Given the description of an element on the screen output the (x, y) to click on. 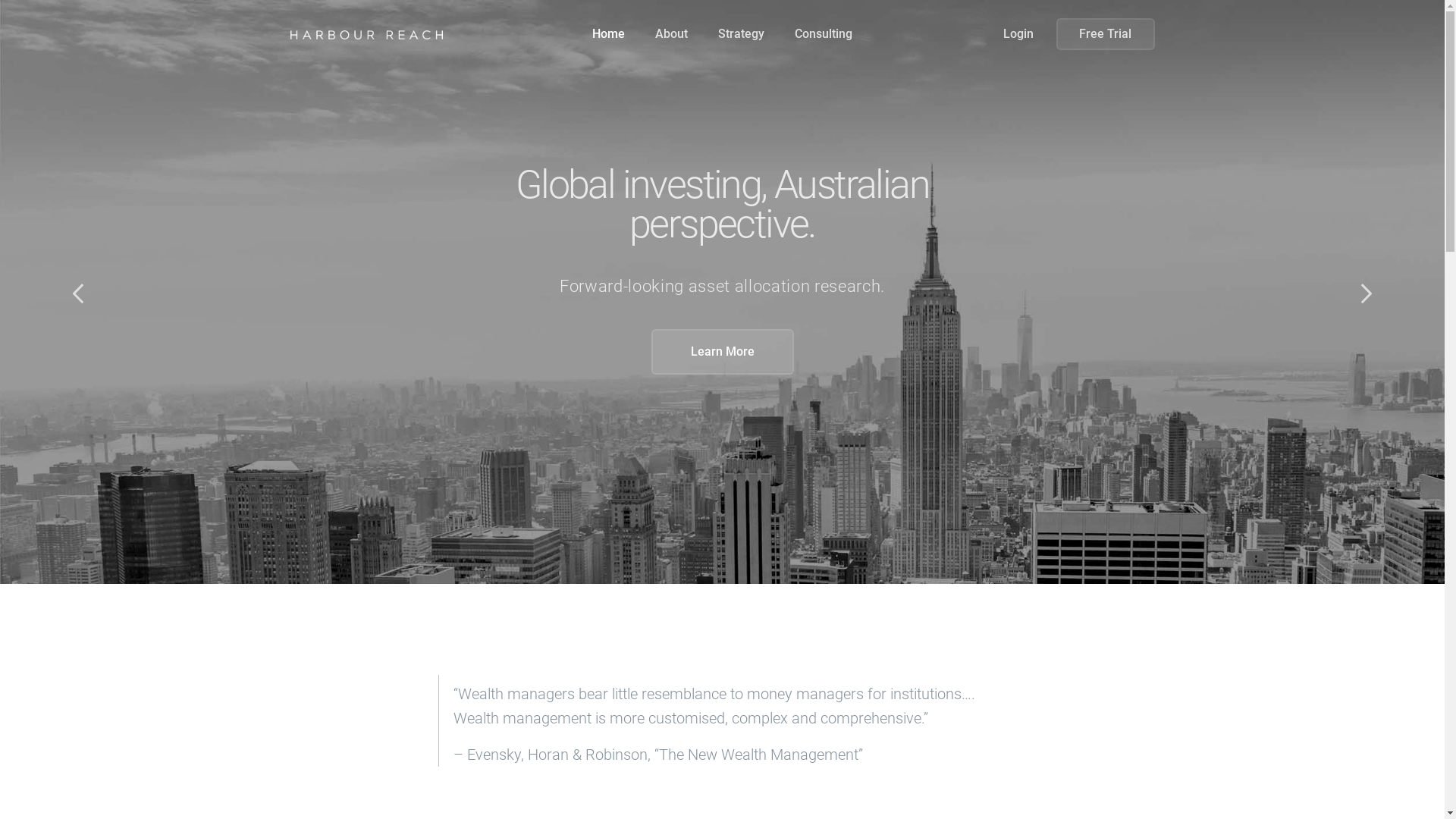
Learn More Element type: text (721, 351)
Login Element type: text (1017, 34)
Free Trial Element type: text (1104, 34)
Home Element type: text (608, 33)
Strategy Element type: text (741, 33)
Consulting Element type: text (823, 33)
About Element type: text (671, 33)
